Given the description of an element on the screen output the (x, y) to click on. 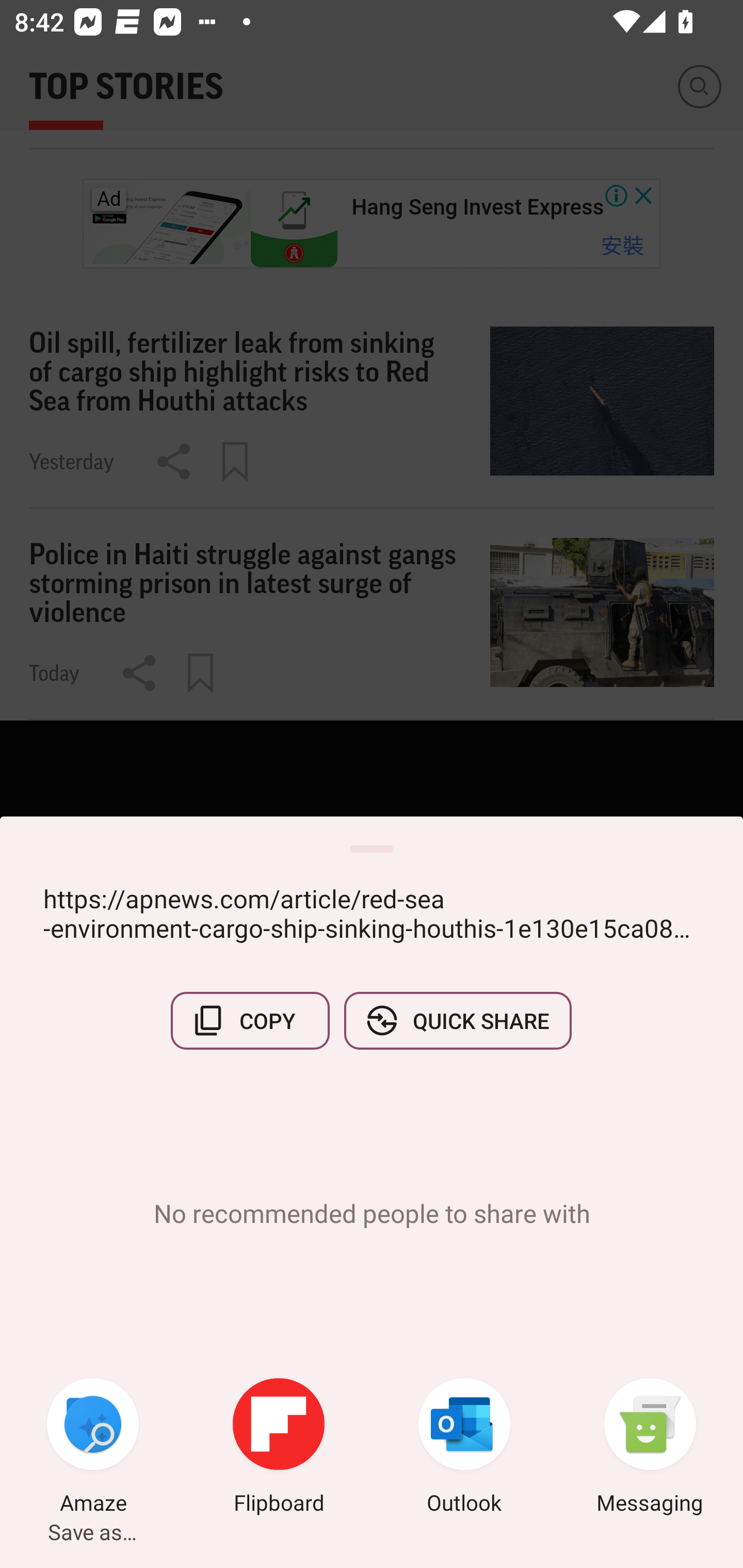
COPY (249, 1020)
QUICK SHARE (457, 1020)
Amaze Save as… (92, 1448)
Flipboard (278, 1448)
Outlook (464, 1448)
Messaging (650, 1448)
